Given the description of an element on the screen output the (x, y) to click on. 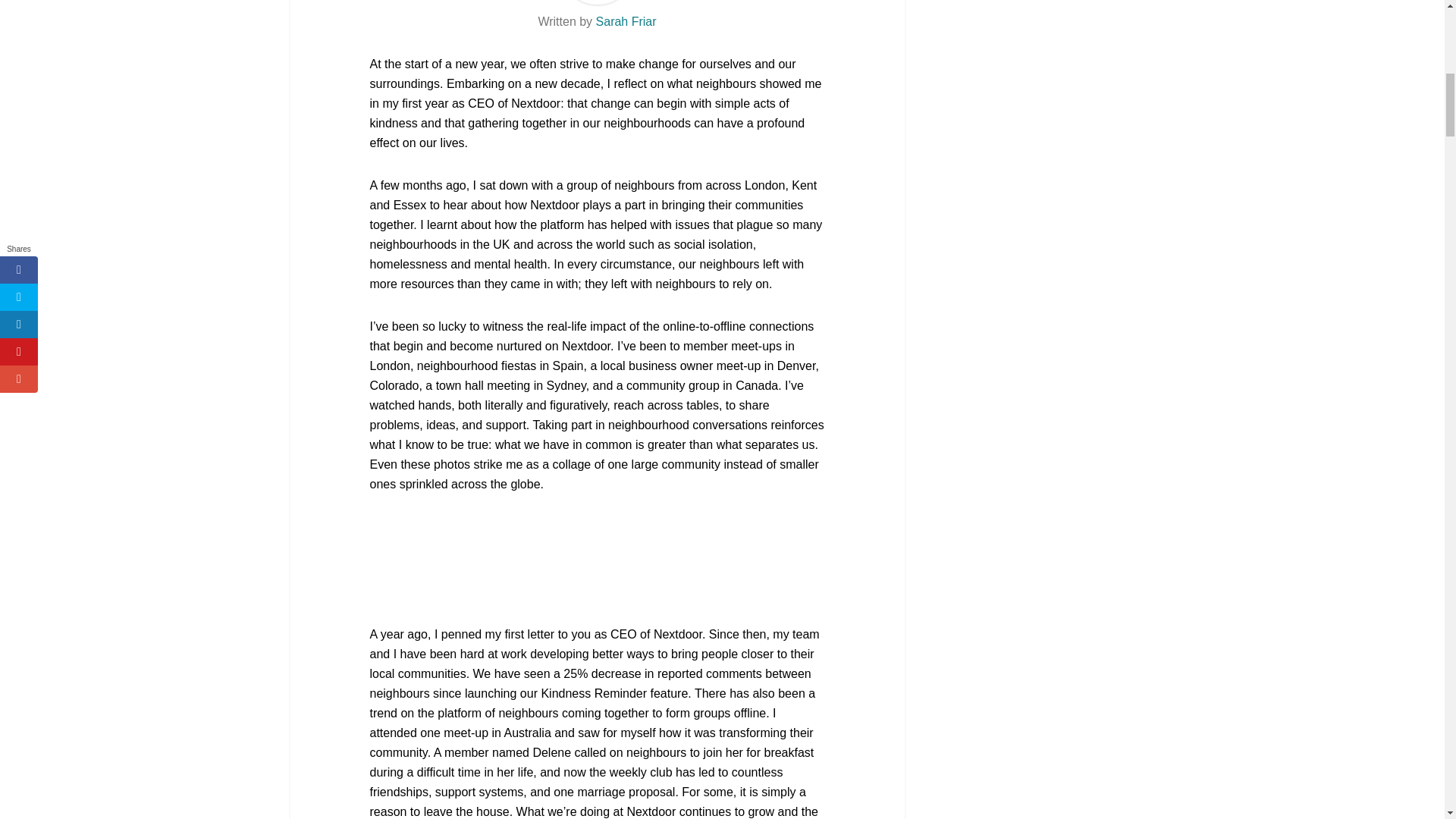
Sarah Friar (625, 21)
